Given the description of an element on the screen output the (x, y) to click on. 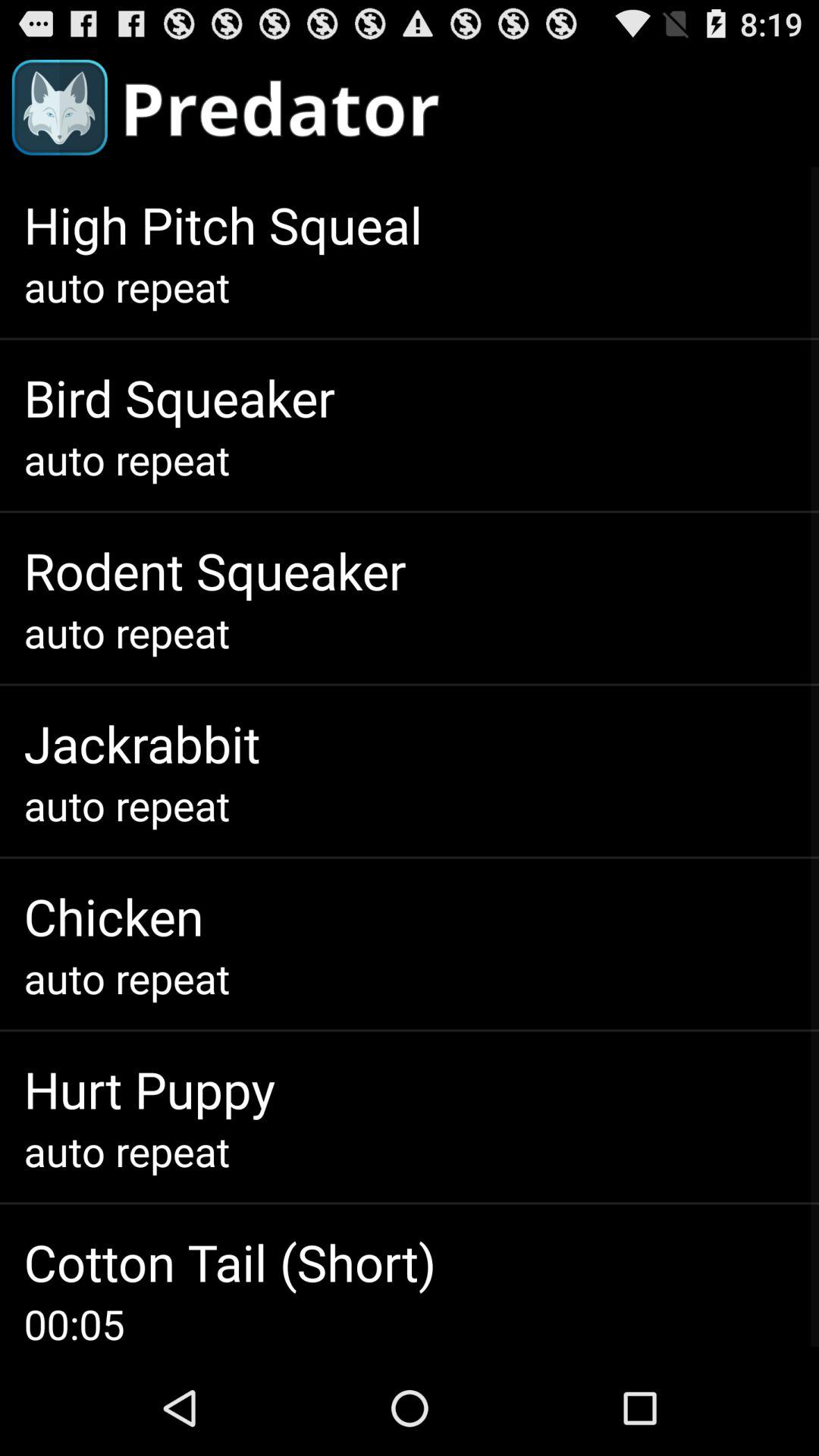
turn on the app above auto repeat (113, 916)
